Given the description of an element on the screen output the (x, y) to click on. 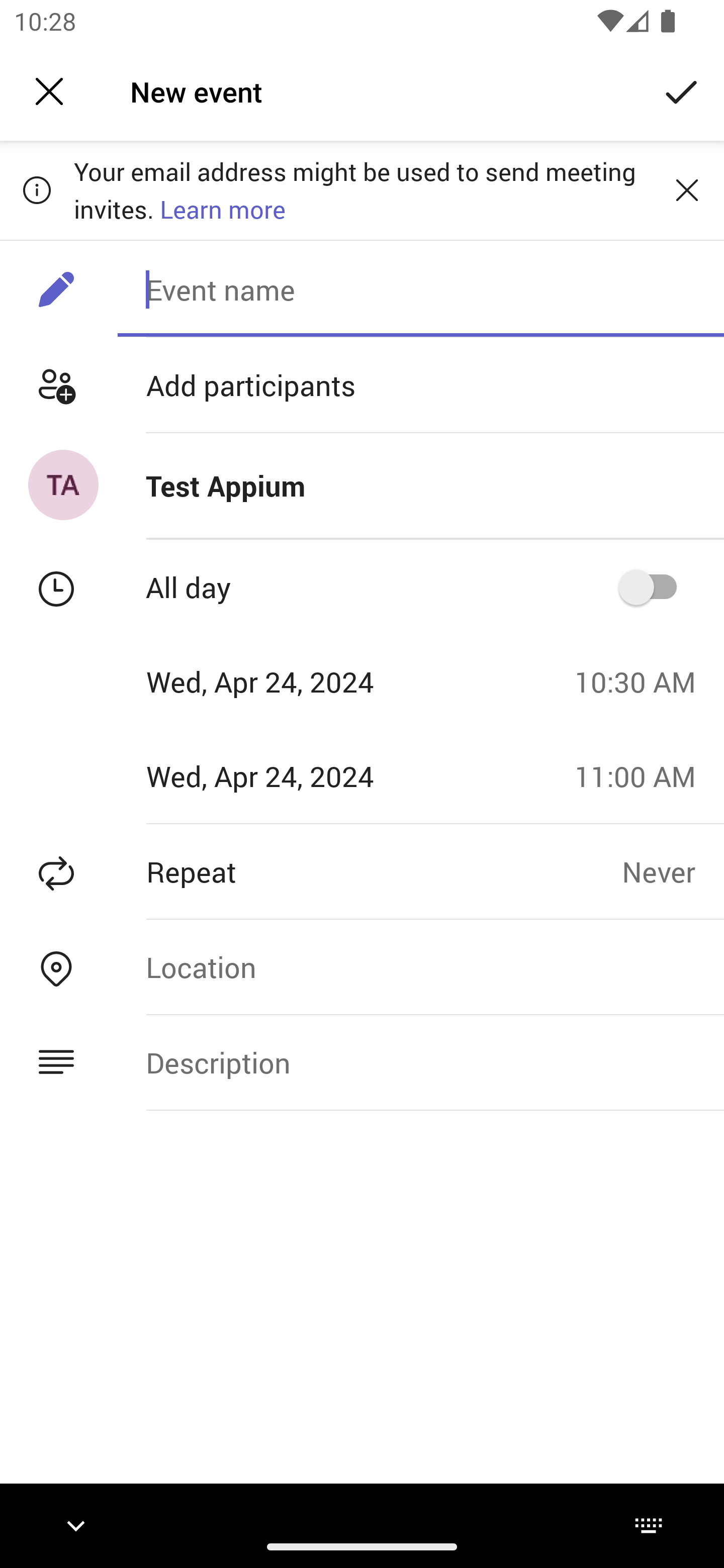
Back (49, 91)
Send invite (681, 90)
Dismiss banner (687, 189)
Event name (420, 289)
Add participants Add participants option (362, 384)
All day (654, 586)
Wed, Apr 24, 2024 Starts Wednesday Apr 24, 2024 (280, 681)
10:30 AM Start time 10:30 AM (642, 681)
Wed, Apr 24, 2024 Ends Wednesday Apr 24, 2024 (280, 776)
11:00 AM End time 11:00 AM (642, 776)
Repeat (310, 871)
Never Repeat Never (672, 871)
Location (420, 967)
Description (420, 1062)
